Given the description of an element on the screen output the (x, y) to click on. 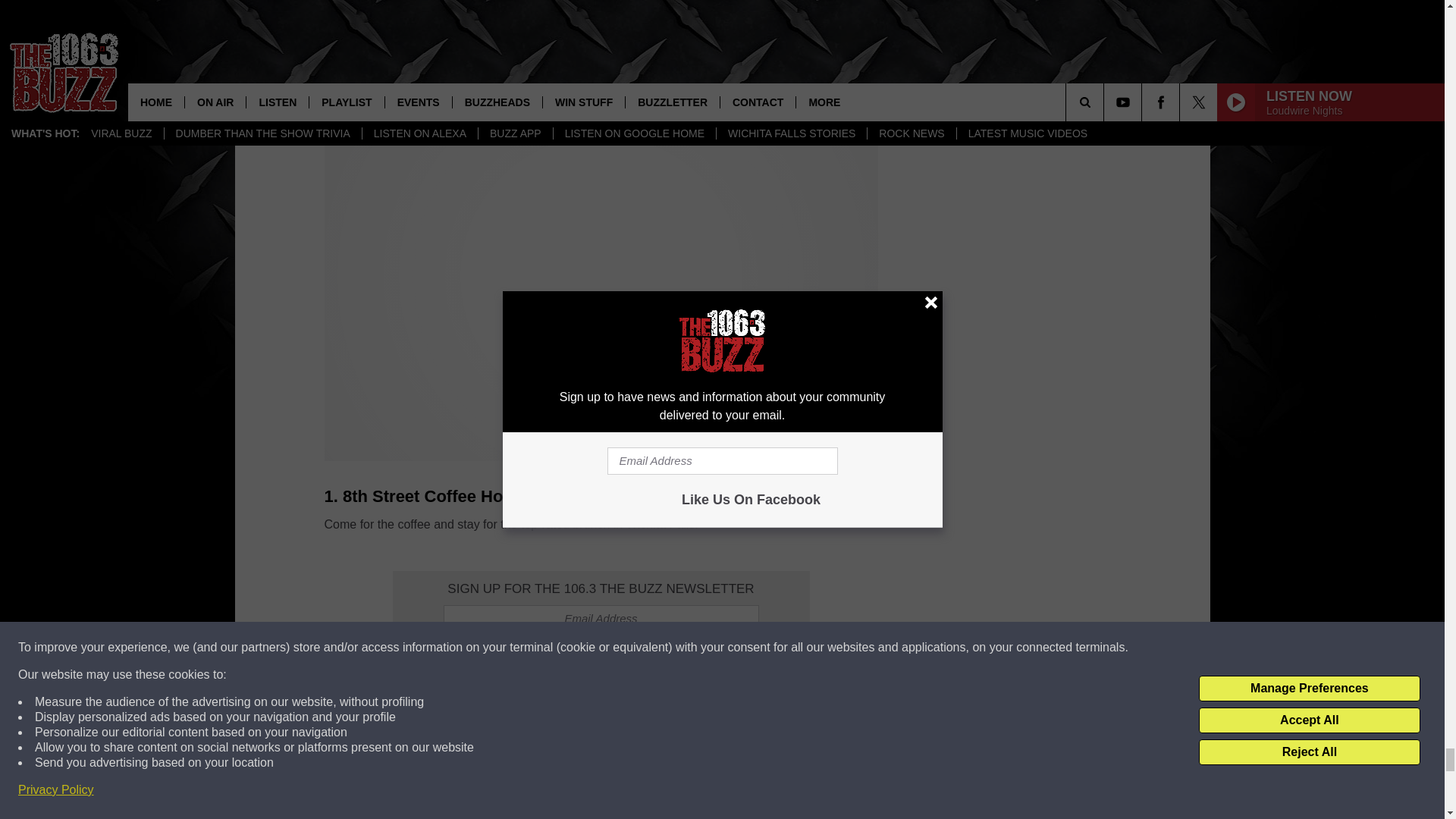
Email Address (600, 618)
